Given the description of an element on the screen output the (x, y) to click on. 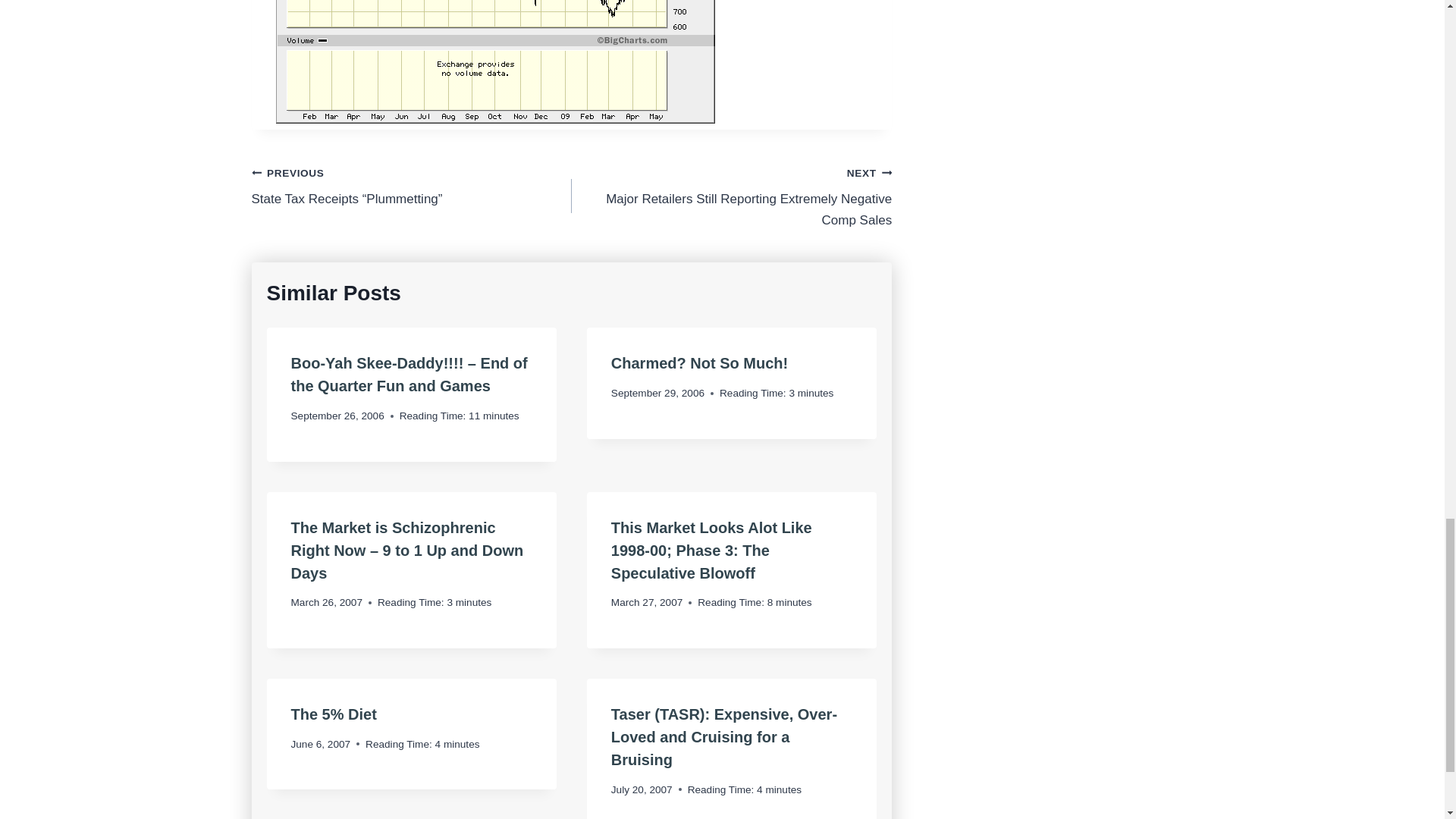
Charmed? Not So Much! (699, 362)
sp-200-dma (495, 61)
